Given the description of an element on the screen output the (x, y) to click on. 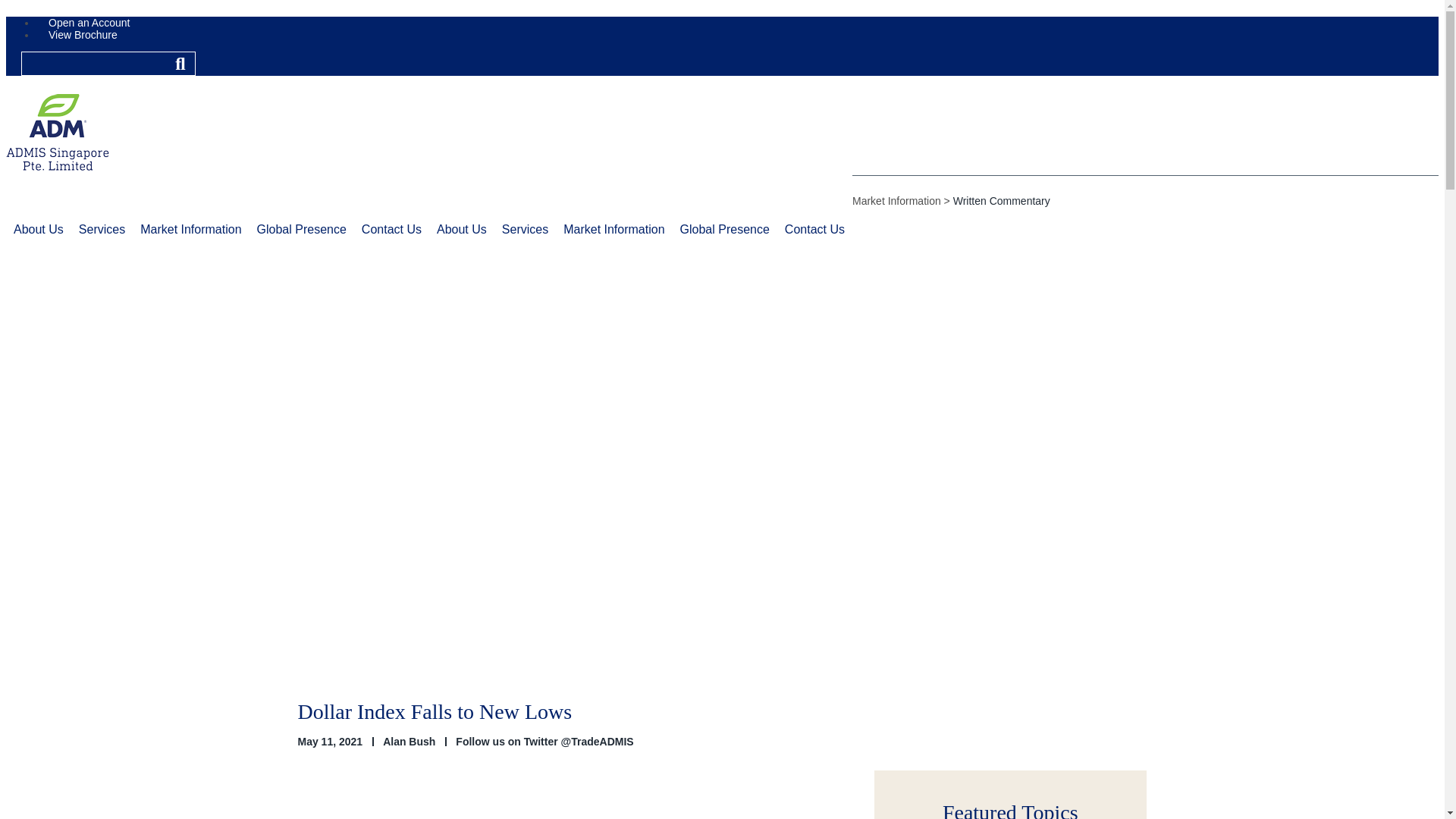
Services (101, 229)
Open an Account (88, 22)
View Brochure (82, 34)
Open an Account (88, 22)
Market Information (190, 229)
View Brochure (82, 34)
YouTube video player (578, 800)
About Us (462, 229)
Contact Us (391, 229)
Global Presence (300, 229)
About Us (38, 229)
